Given the description of an element on the screen output the (x, y) to click on. 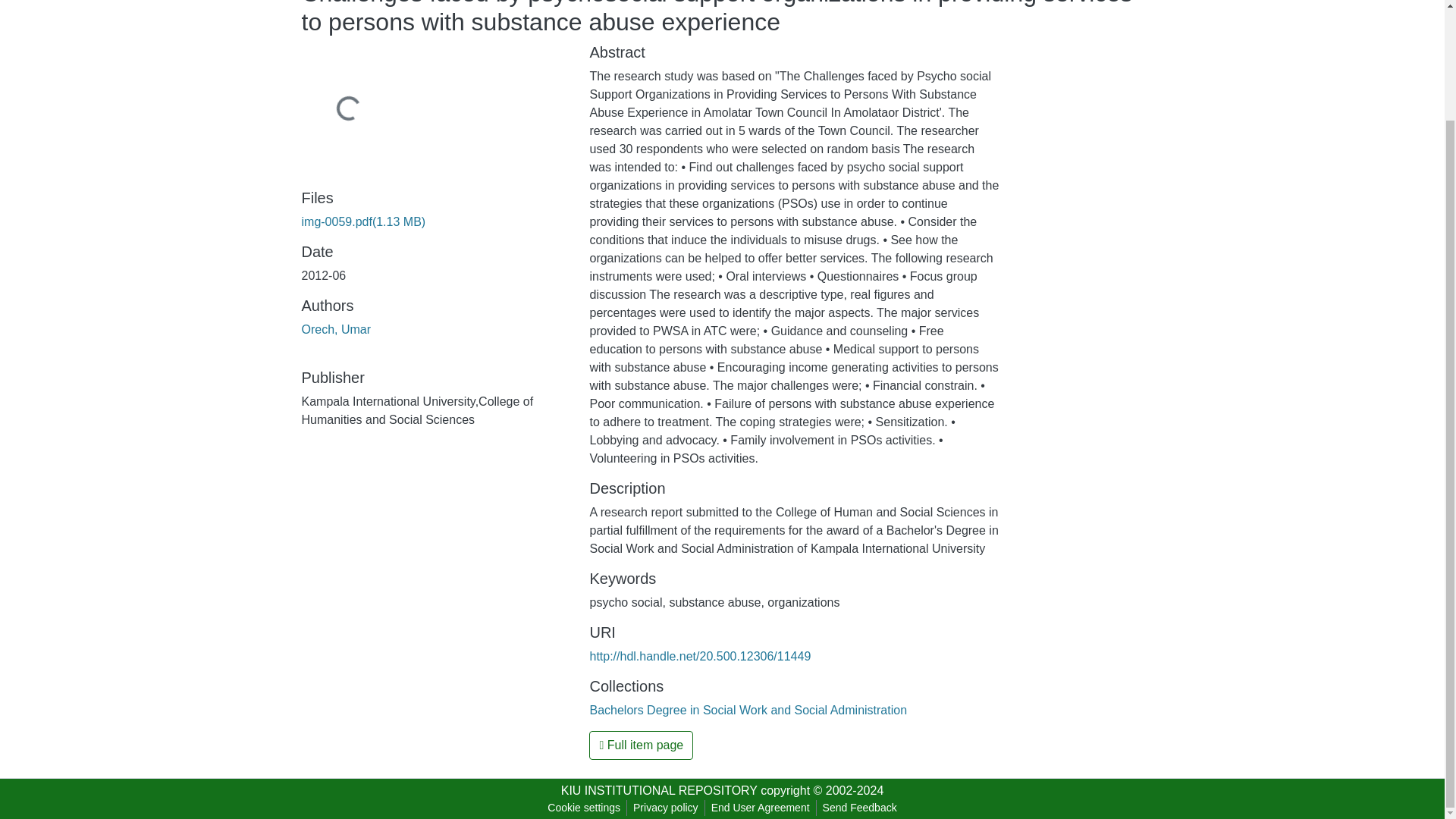
Orech, Umar (336, 328)
Privacy policy (665, 807)
Bachelors Degree in Social Work and Social Administration (748, 709)
Send Feedback (859, 807)
End User Agreement (759, 807)
KIU INSTITUTIONAL REPOSITORY (658, 789)
Cookie settings (583, 807)
Full item page (641, 745)
